Given the description of an element on the screen output the (x, y) to click on. 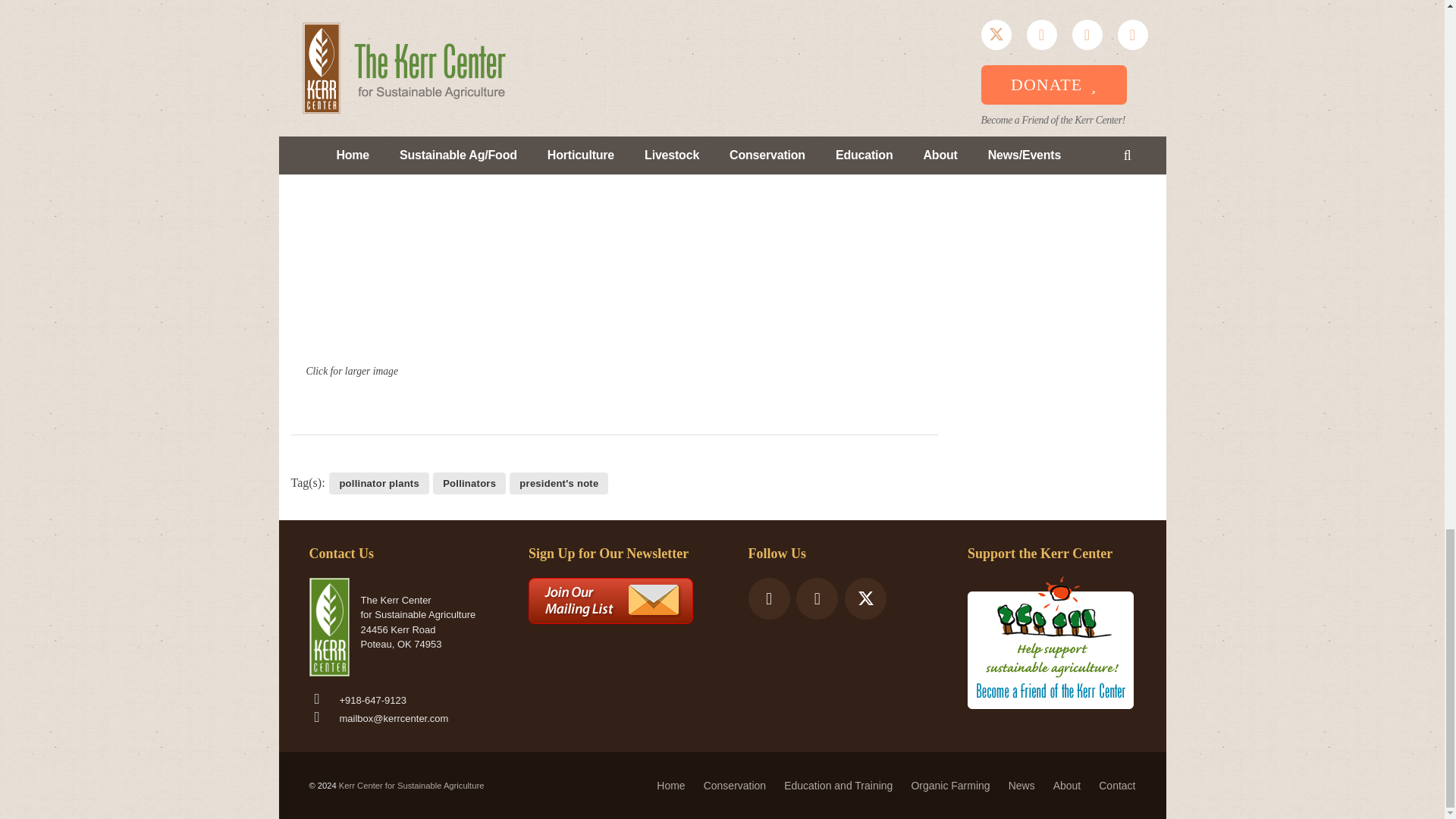
Twitter (865, 598)
YouTube (817, 598)
Facebook (768, 598)
